Given the description of an element on the screen output the (x, y) to click on. 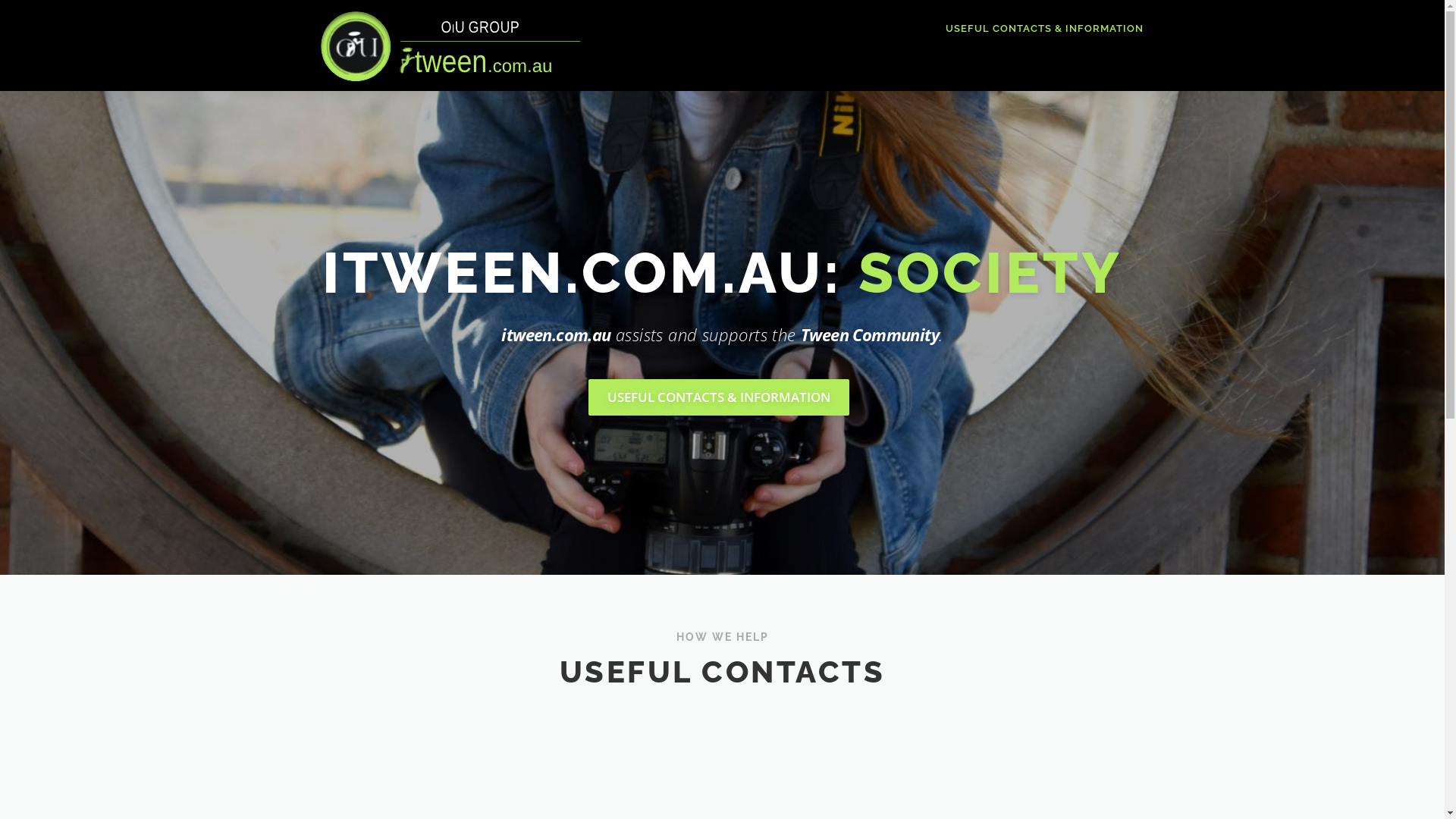
USEFUL CONTACTS & INFORMATION Element type: text (718, 396)
USEFUL CONTACTS & INFORMATION Element type: text (1037, 28)
